Given the description of an element on the screen output the (x, y) to click on. 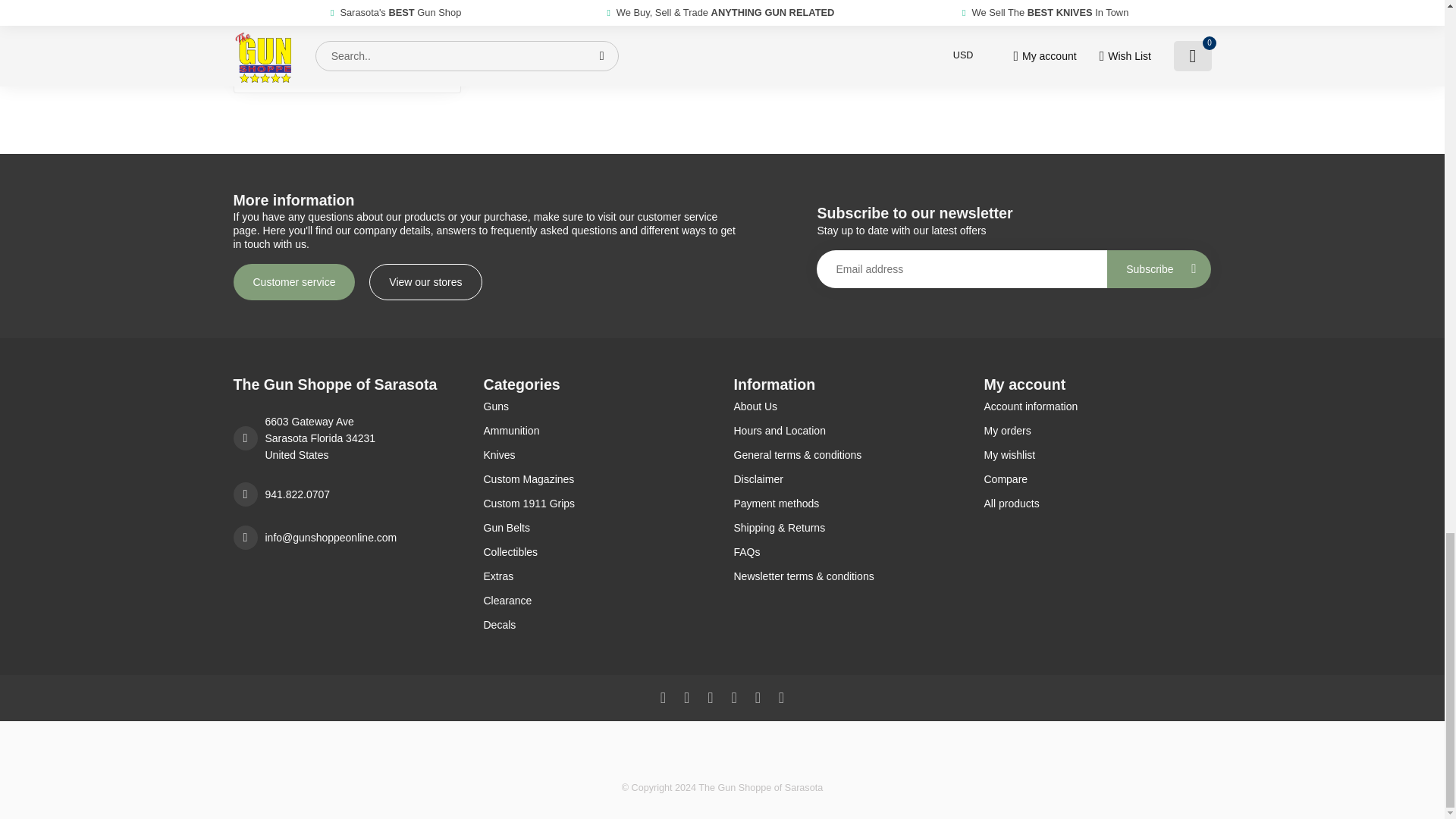
Hours and Location (846, 430)
My orders (1097, 430)
My wishlist (1097, 454)
Payment methods (846, 503)
Compare (1097, 478)
Disclaimer (846, 478)
1 (387, 65)
All products (1097, 503)
About Us (846, 405)
Account information (1097, 405)
